Given the description of an element on the screen output the (x, y) to click on. 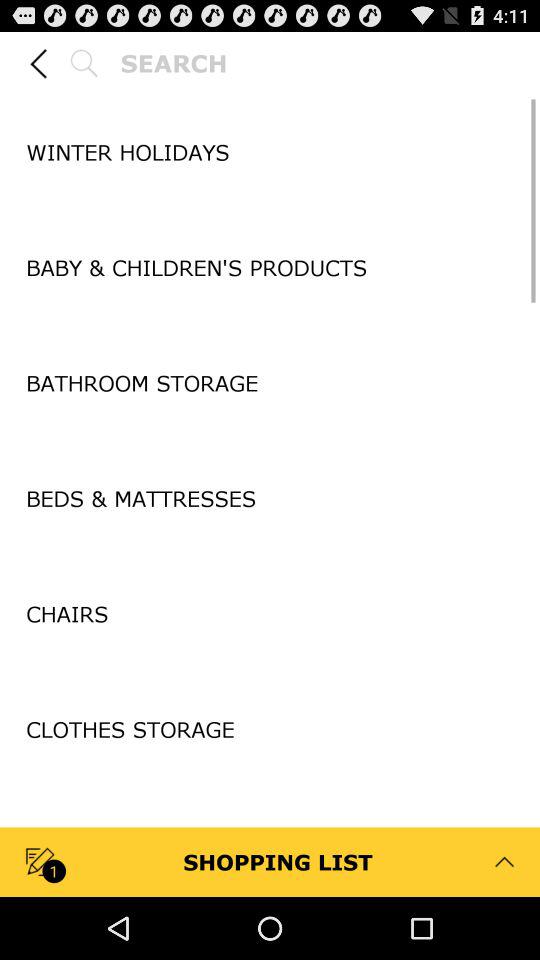
jump to the clothes storage item (270, 729)
